Given the description of an element on the screen output the (x, y) to click on. 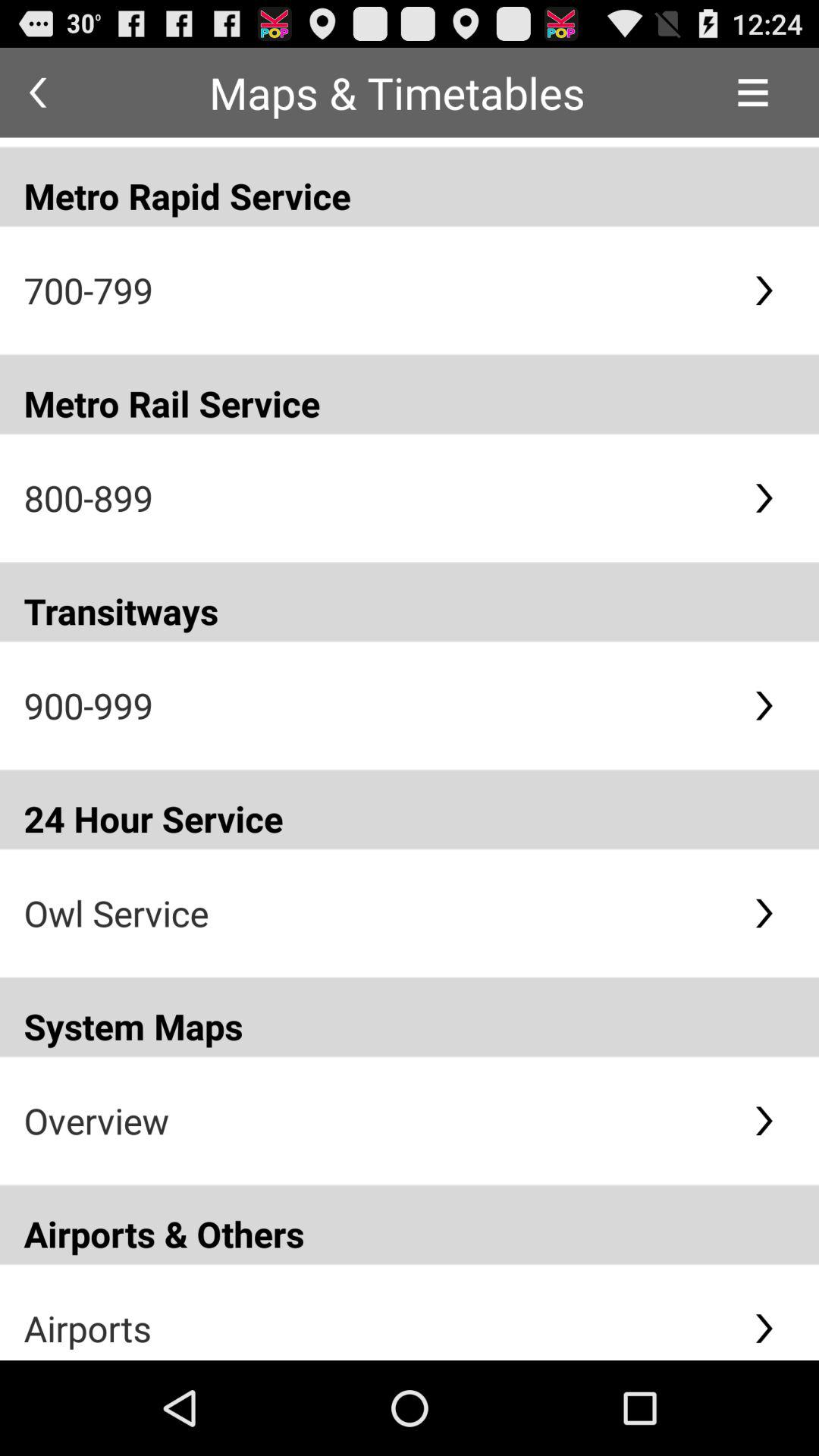
scroll to the 24 hour service icon (409, 809)
